Given the description of an element on the screen output the (x, y) to click on. 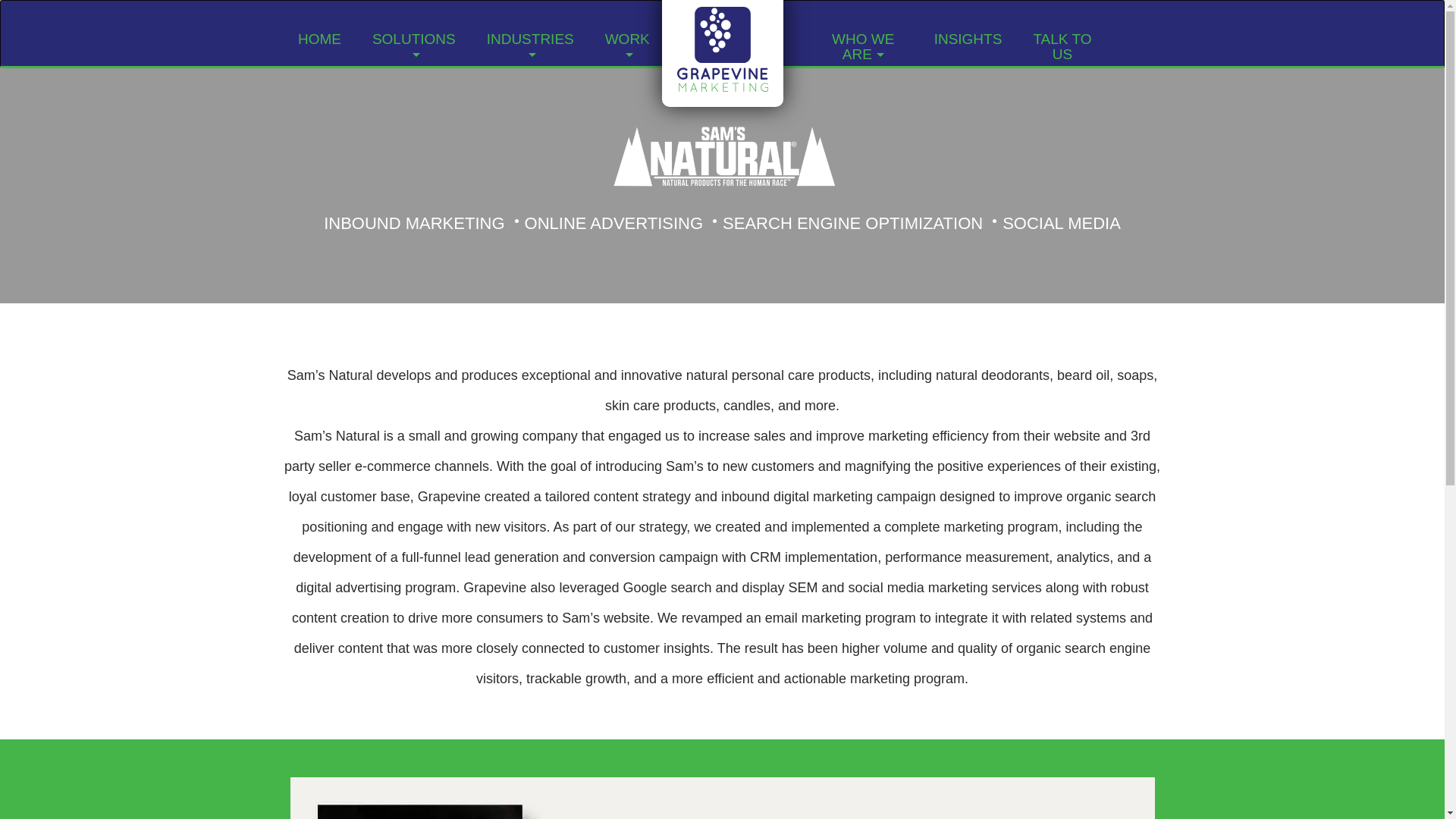
Home (319, 38)
INDUSTRIES (529, 45)
SOLUTIONS (413, 45)
Solutions (413, 45)
Who we are (863, 47)
HOME (319, 38)
Industries (529, 45)
Work (627, 45)
WORK (627, 45)
